Given the description of an element on the screen output the (x, y) to click on. 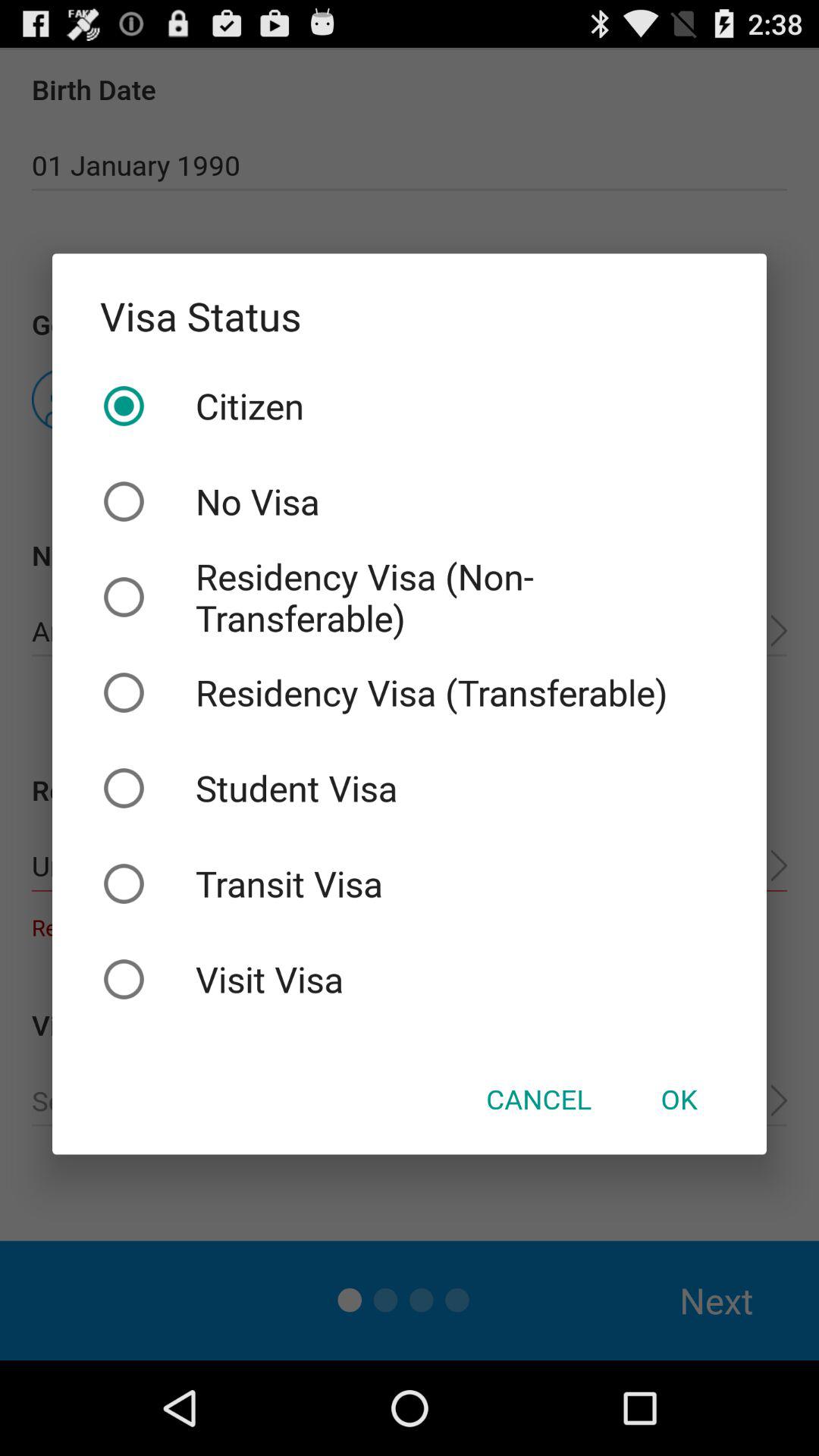
jump until cancel (538, 1098)
